Given the description of an element on the screen output the (x, y) to click on. 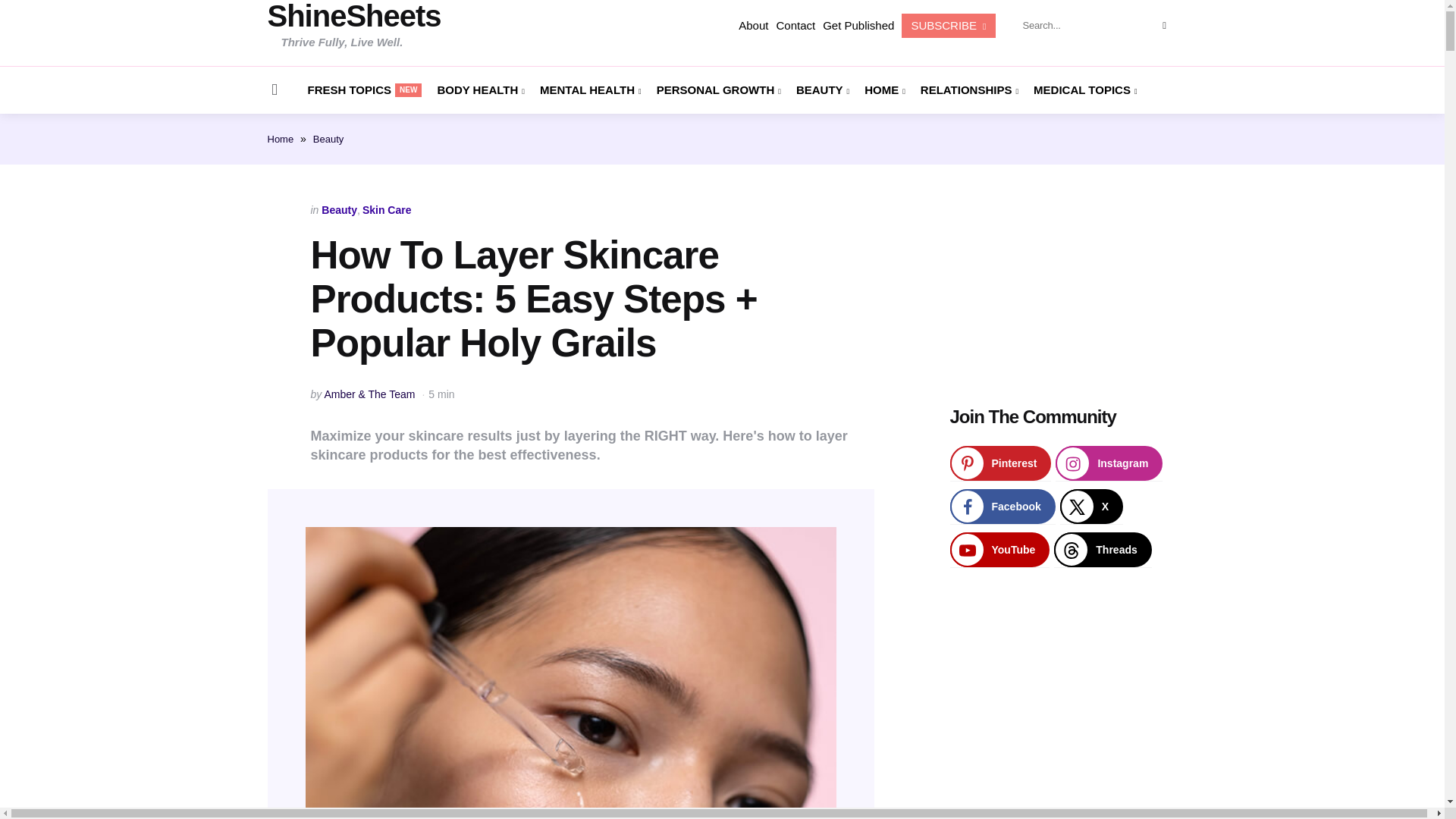
Contact (795, 25)
About (753, 25)
BODY HEALTH (480, 89)
ShineSheets (353, 15)
PERSONAL GROWTH (364, 89)
MENTAL HEALTH (718, 89)
Get Published (591, 89)
Search (857, 25)
SUBSCRIBE (1163, 24)
